Given the description of an element on the screen output the (x, y) to click on. 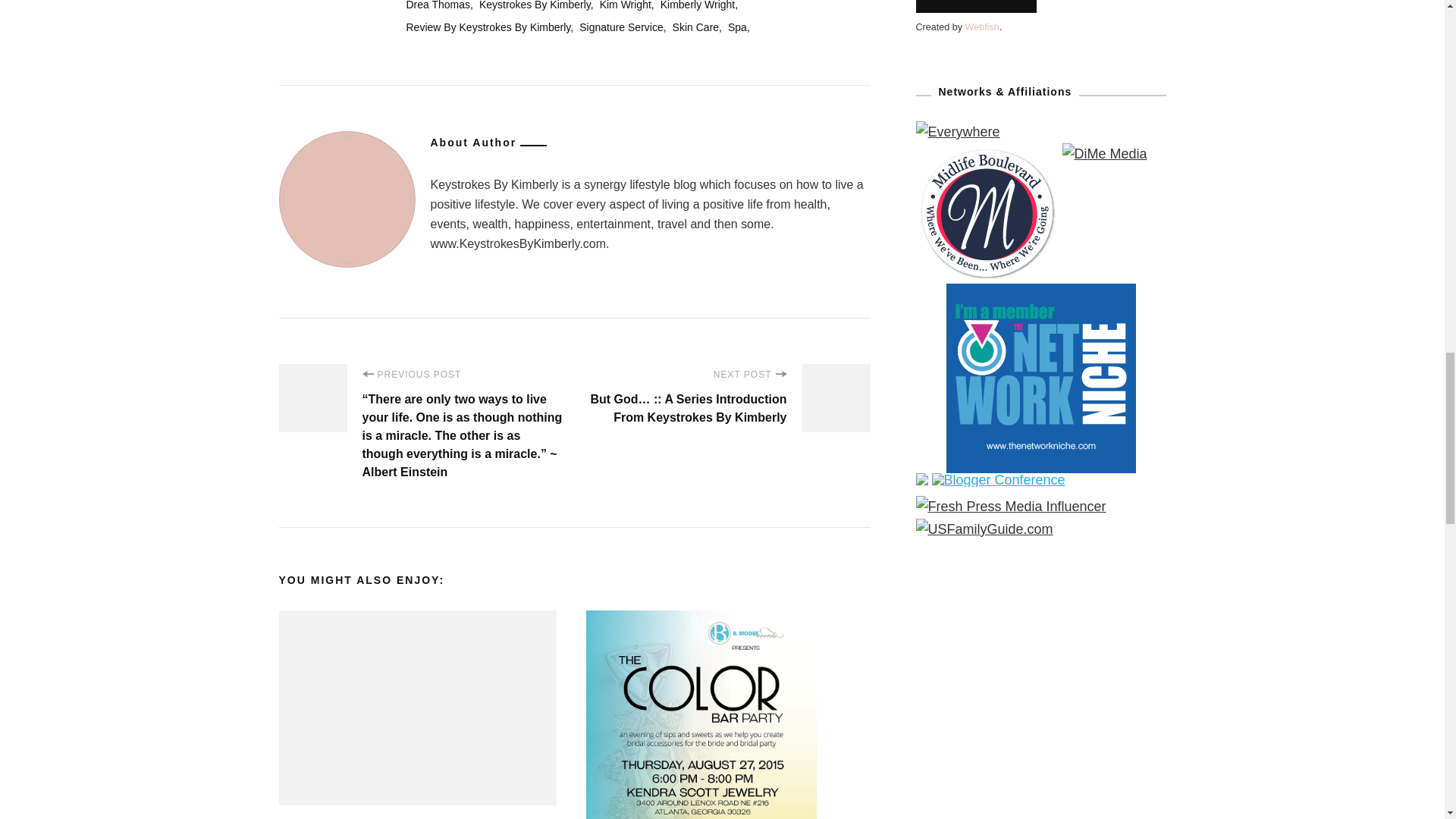
Subscribe (975, 6)
